Given the description of an element on the screen output the (x, y) to click on. 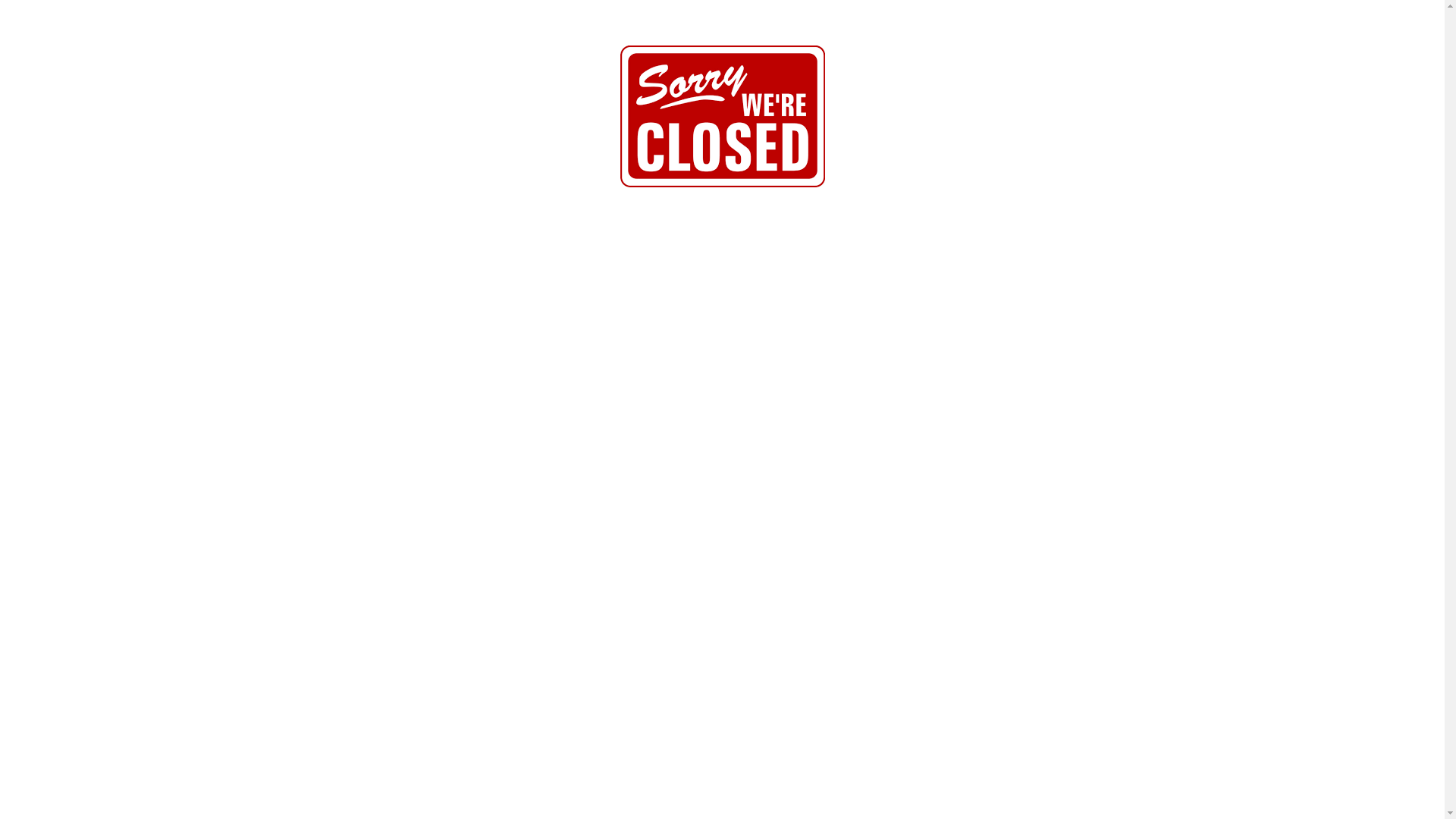
Maintain 1 Element type: hover (722, 116)
